Given the description of an element on the screen output the (x, y) to click on. 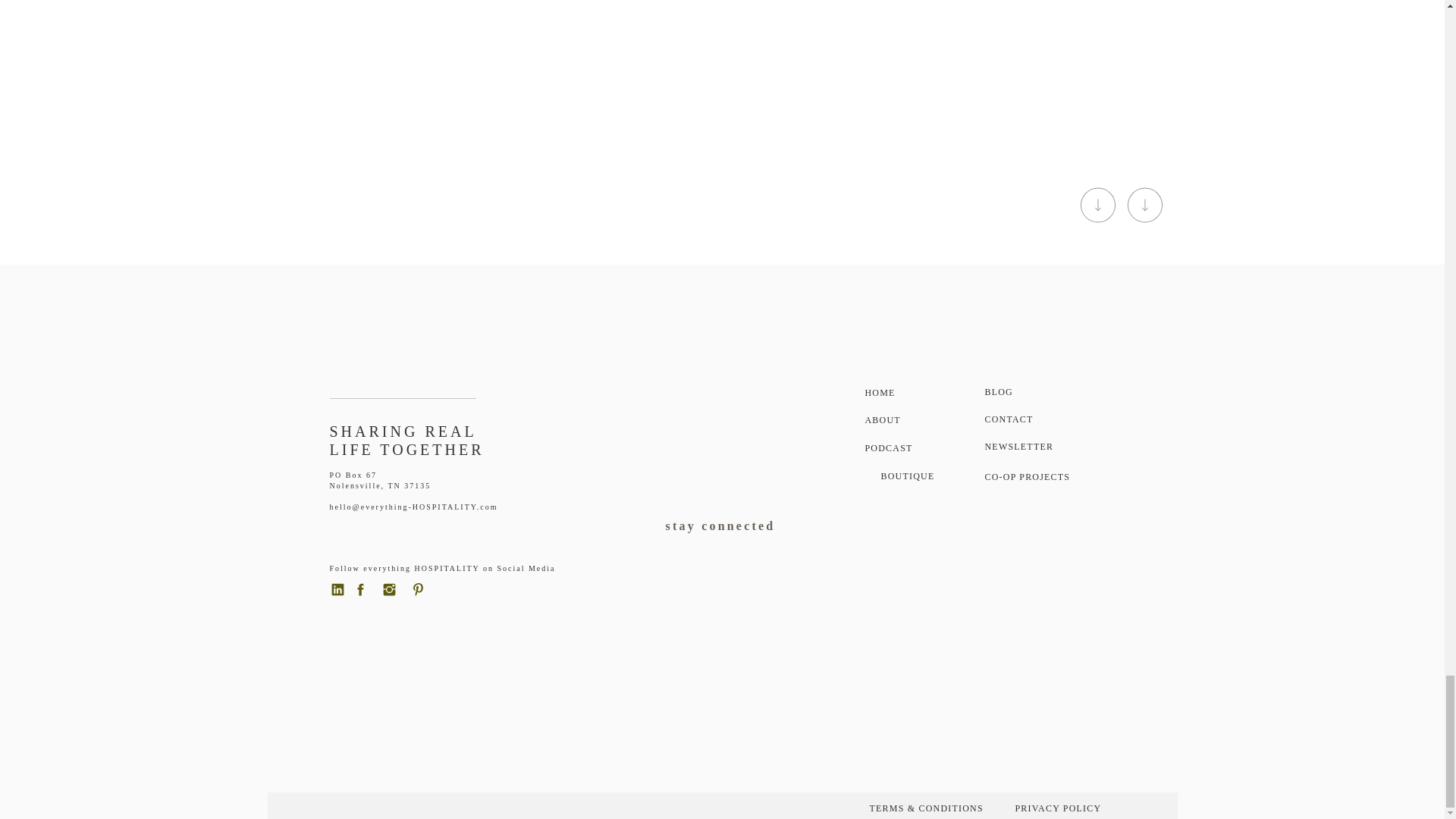
CO-OP PROJECTS (1035, 479)
ABOUT (902, 422)
HOME (901, 394)
